Given the description of an element on the screen output the (x, y) to click on. 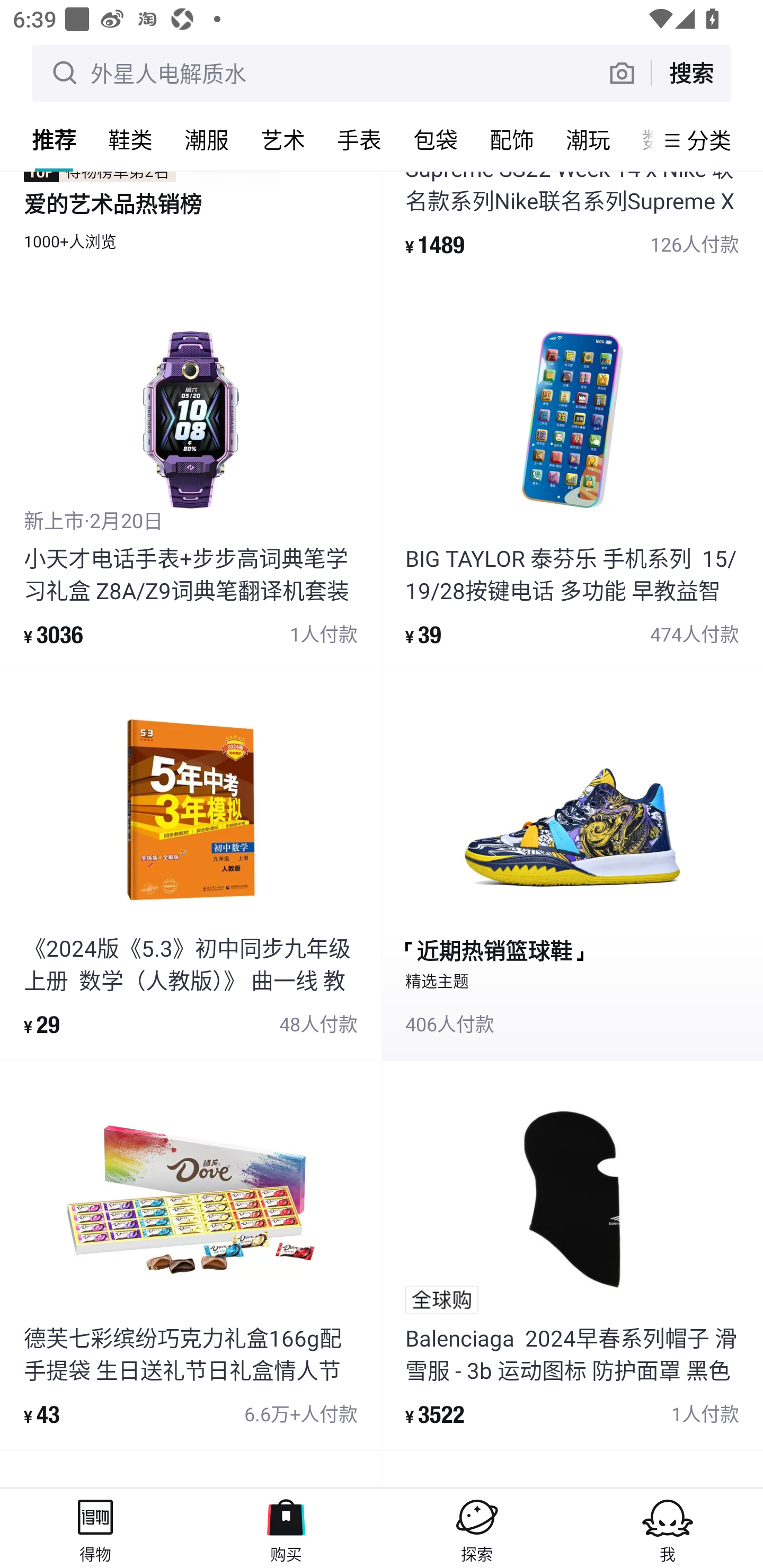
搜索 (690, 72)
推荐 (54, 139)
鞋类 (130, 139)
潮服 (206, 139)
艺术 (282, 139)
手表 (359, 139)
包袋 (435, 139)
配饰 (511, 139)
潮玩 (588, 139)
分类 (708, 139)
近期热销篮球鞋 精选主题 406人付款 (572, 865)
得物 (95, 1528)
购买 (285, 1528)
探索 (476, 1528)
我 (667, 1528)
